Given the description of an element on the screen output the (x, y) to click on. 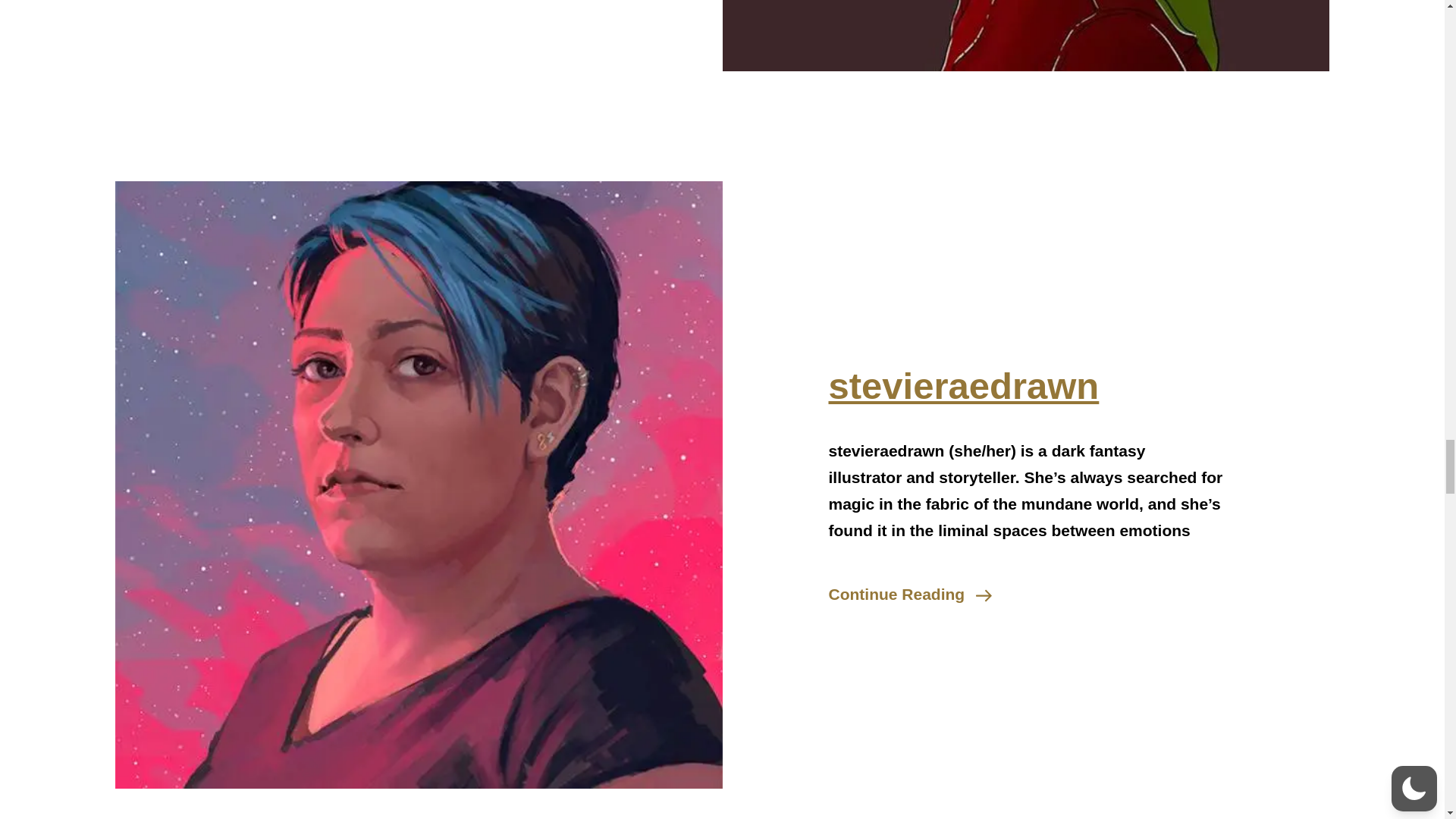
Xavier Hart (1024, 66)
